Given the description of an element on the screen output the (x, y) to click on. 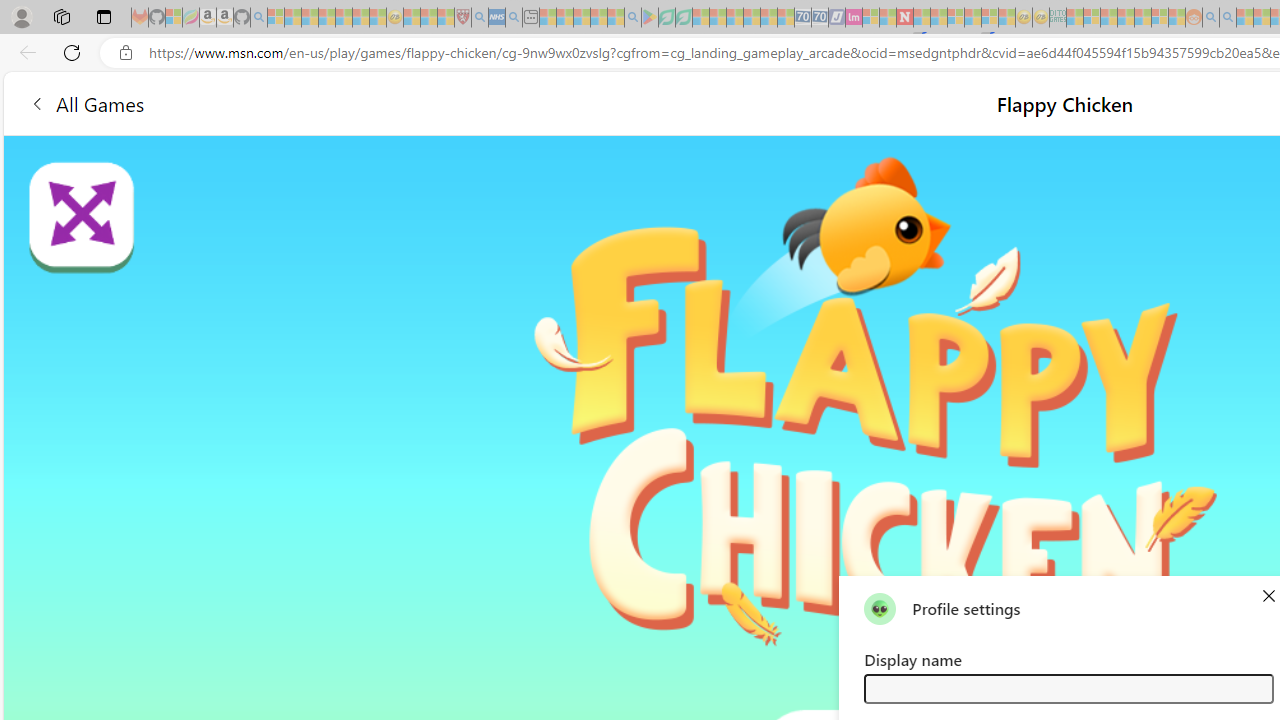
Terms of Use Agreement - Sleeping (666, 17)
google - Search - Sleeping (632, 17)
Microsoft Start - Sleeping (1244, 17)
All Games (86, 102)
Robert H. Shmerling, MD - Harvard Health - Sleeping (462, 17)
Latest Politics News & Archive | Newsweek.com - Sleeping (904, 17)
Utah sues federal government - Search - Sleeping (1227, 17)
Cheap Hotels - Save70.com - Sleeping (819, 17)
Pets - MSN - Sleeping (598, 17)
